Given the description of an element on the screen output the (x, y) to click on. 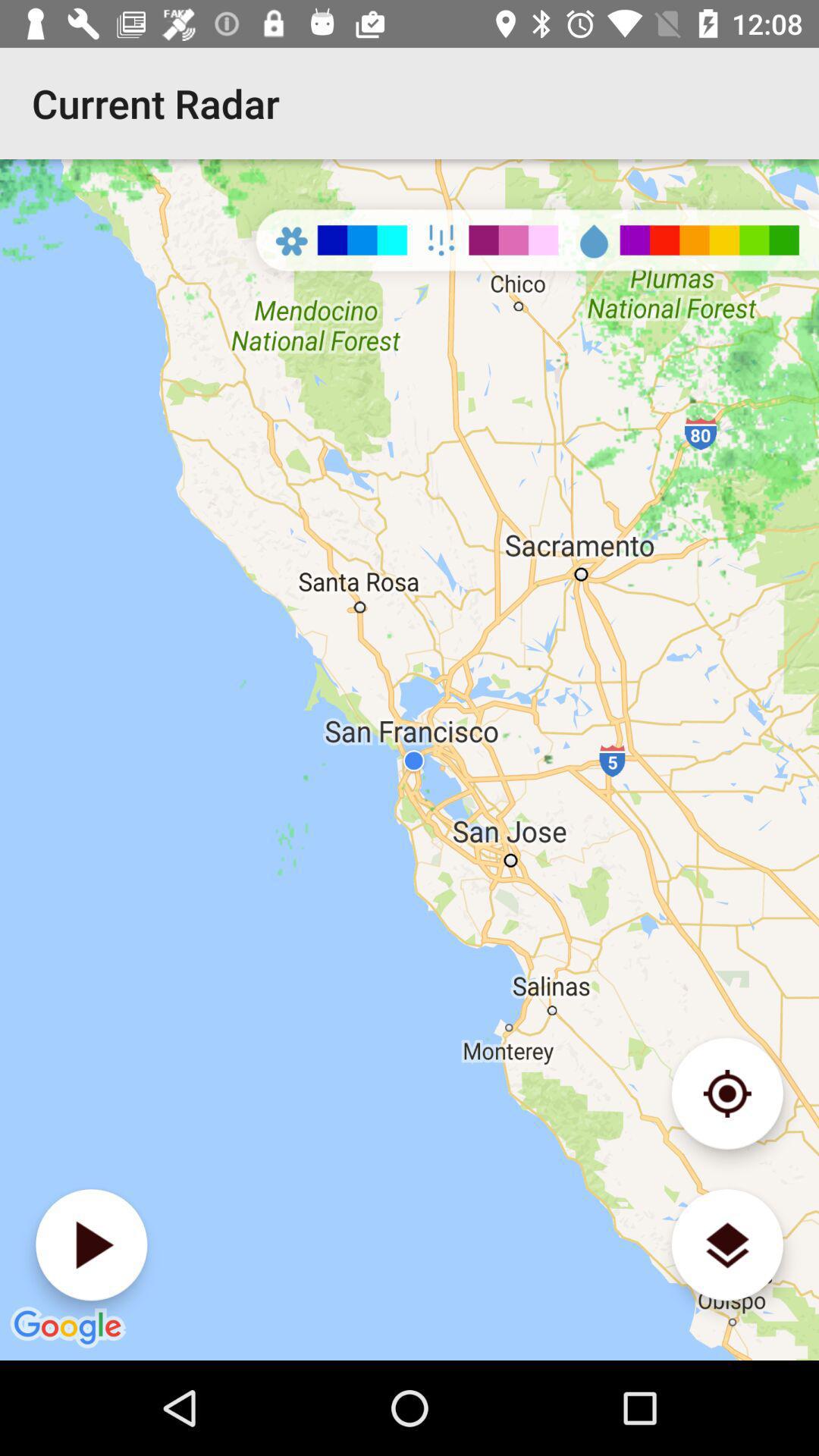
locate current location on the map (727, 1093)
